Given the description of an element on the screen output the (x, y) to click on. 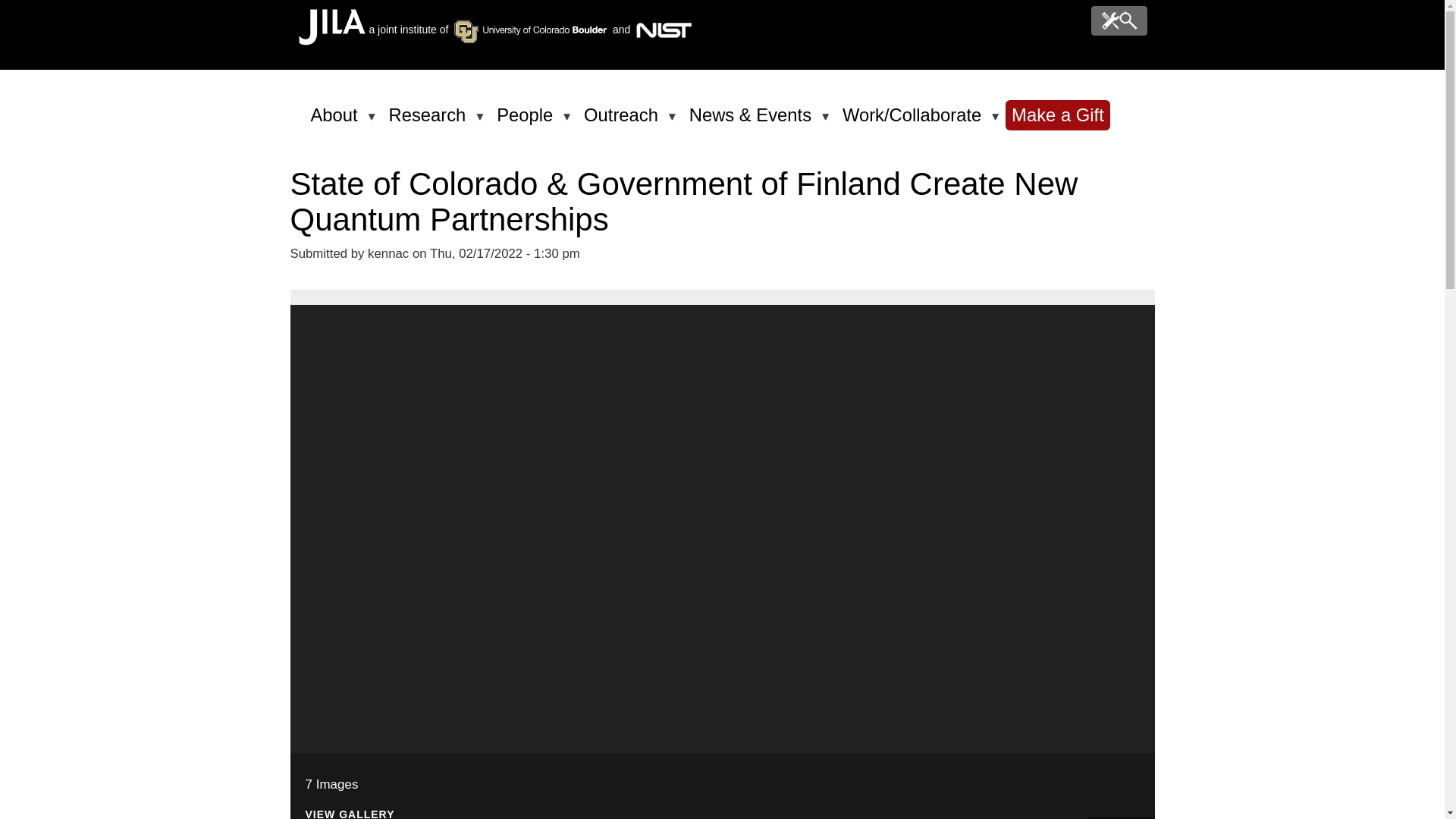
Home (331, 41)
